Given the description of an element on the screen output the (x, y) to click on. 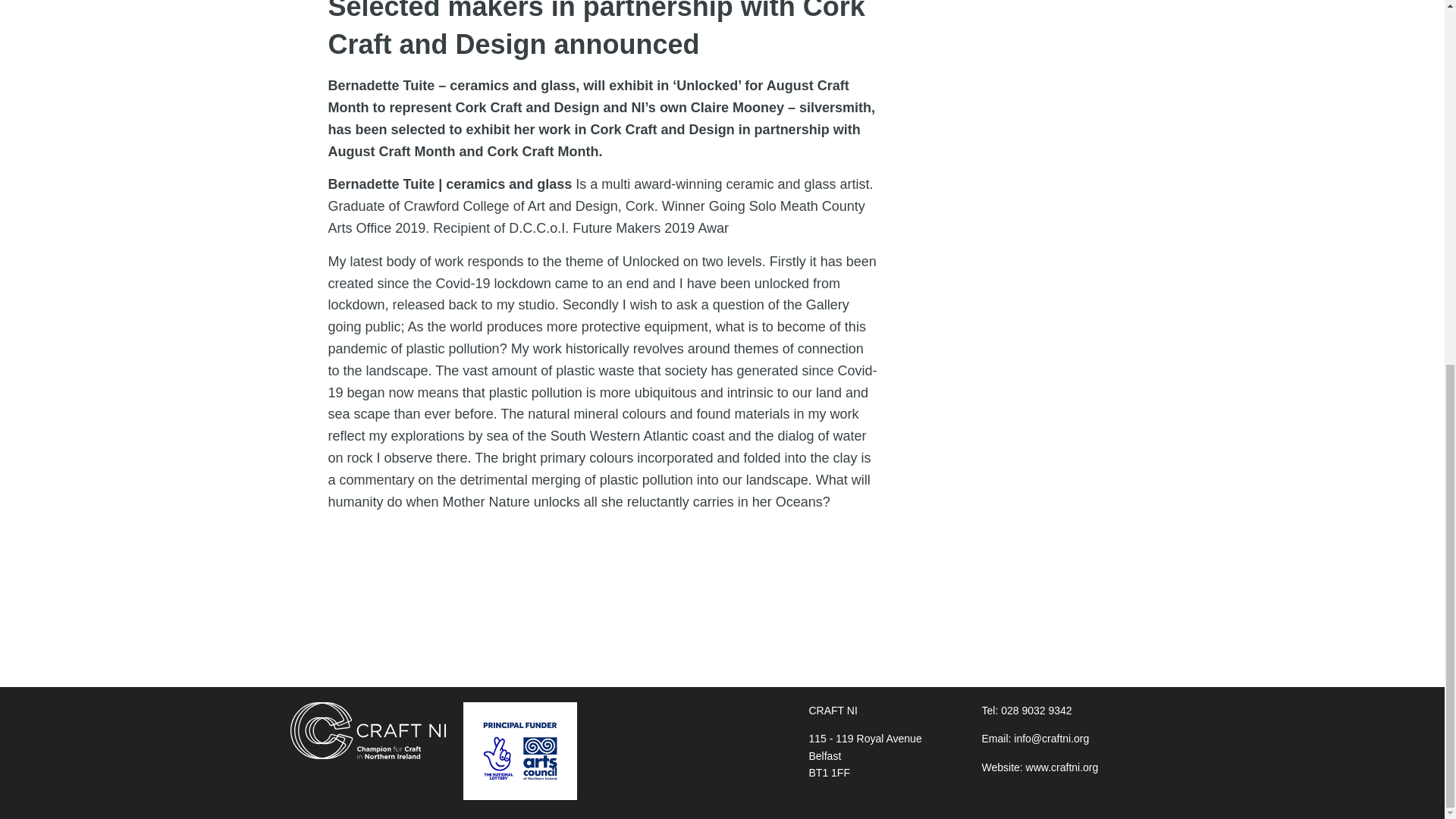
BACK (322, 616)
